Given the description of an element on the screen output the (x, y) to click on. 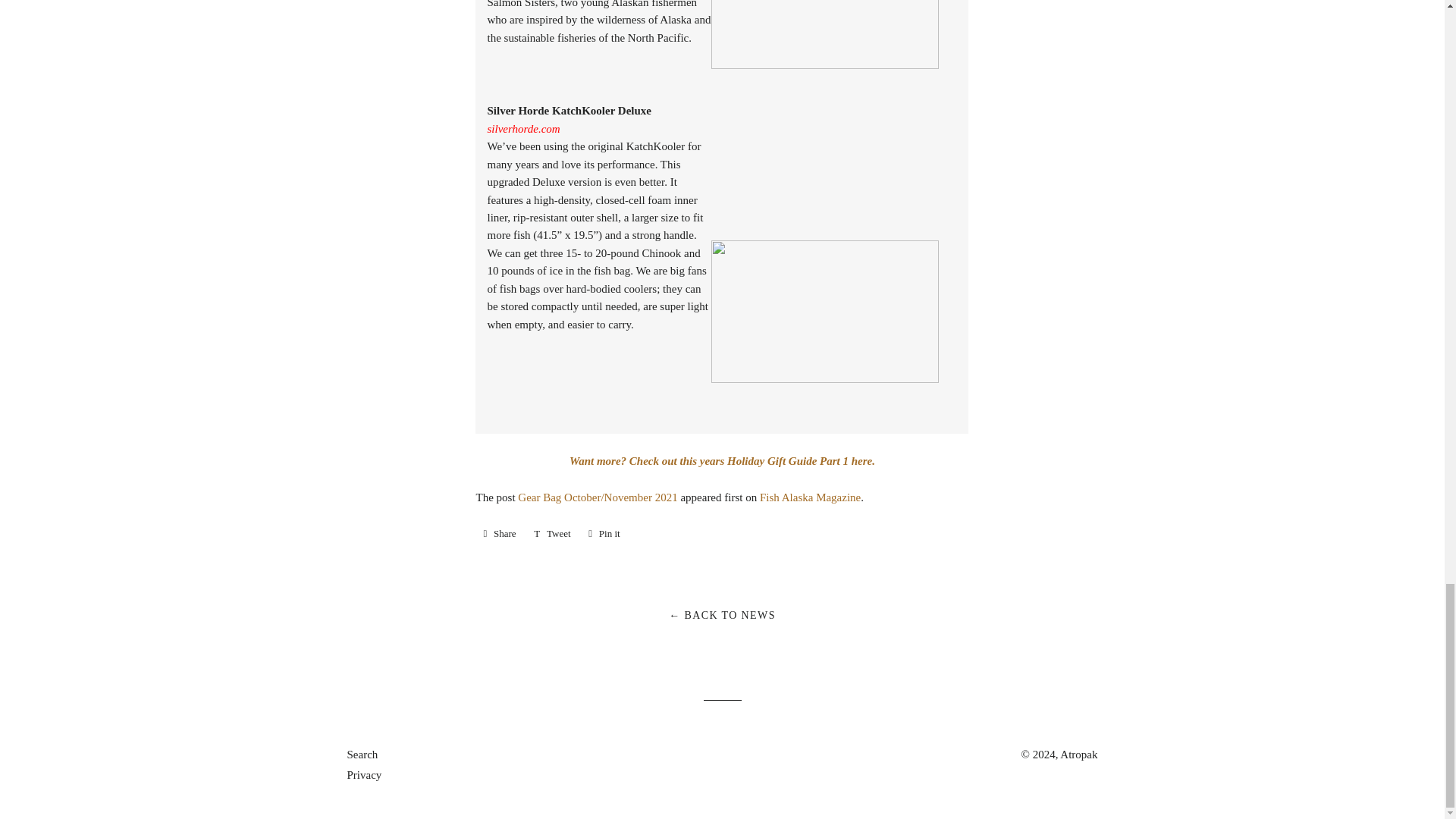
Pin on Pinterest (603, 533)
Tweet on Twitter (551, 533)
silverhorde.com (522, 128)
Share on Facebook (499, 533)
KatchKooler Deluxe (825, 311)
